Given the description of an element on the screen output the (x, y) to click on. 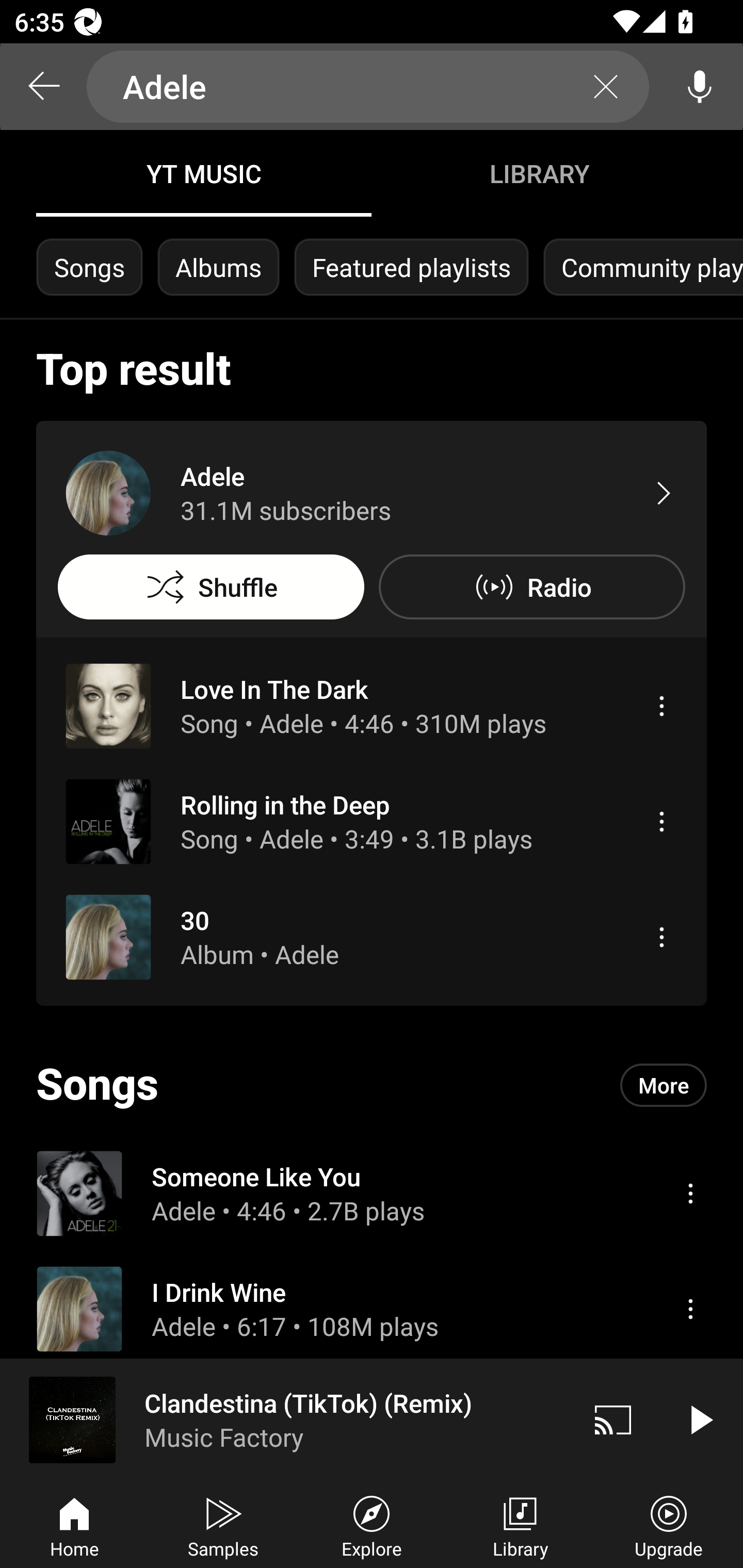
Search back (43, 86)
Adele (367, 86)
Clear search (605, 86)
Voice search (699, 86)
Library LIBRARY (538, 173)
Shuffle (210, 587)
Radio (531, 587)
Menu (661, 705)
Menu (661, 821)
Menu (661, 937)
Songs More More (371, 1084)
More (663, 1085)
Menu (690, 1193)
Menu (690, 1309)
Clandestina (TikTok) (Remix) Music Factory (284, 1419)
Cast. Disconnected (612, 1419)
Play video (699, 1419)
Home (74, 1524)
Samples (222, 1524)
Explore (371, 1524)
Library (519, 1524)
Upgrade (668, 1524)
